Given the description of an element on the screen output the (x, y) to click on. 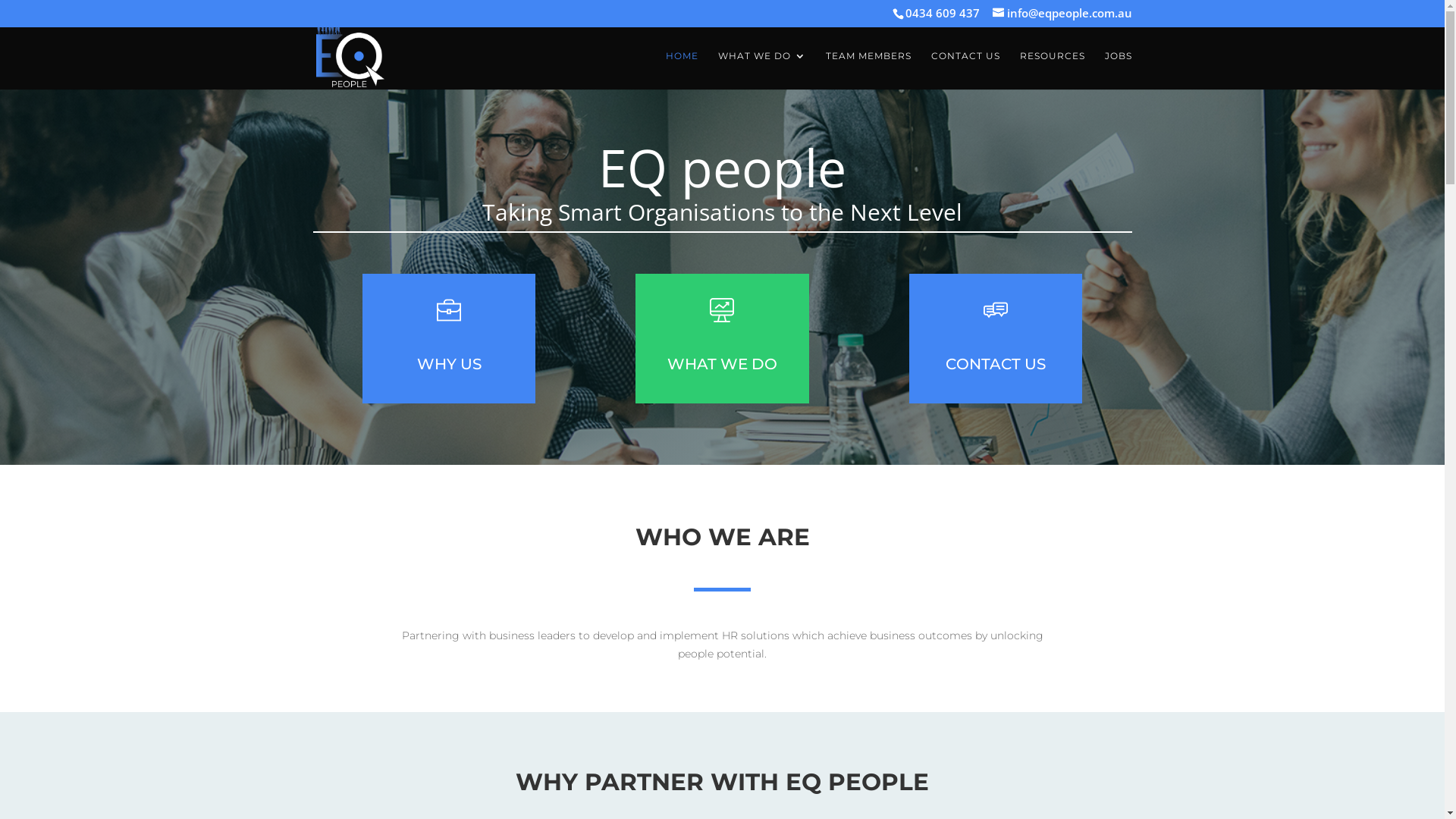
WHY US Element type: text (449, 364)
info@eqpeople.com.au Element type: text (1061, 12)
RESOURCES Element type: text (1051, 69)
WHAT WE DO Element type: text (722, 364)
HOME Element type: text (681, 69)
CONTACT US Element type: text (995, 364)
CONTACT US Element type: text (965, 69)
JOBS Element type: text (1117, 69)
TEAM MEMBERS Element type: text (867, 69)
WHAT WE DO Element type: text (761, 69)
